Given the description of an element on the screen output the (x, y) to click on. 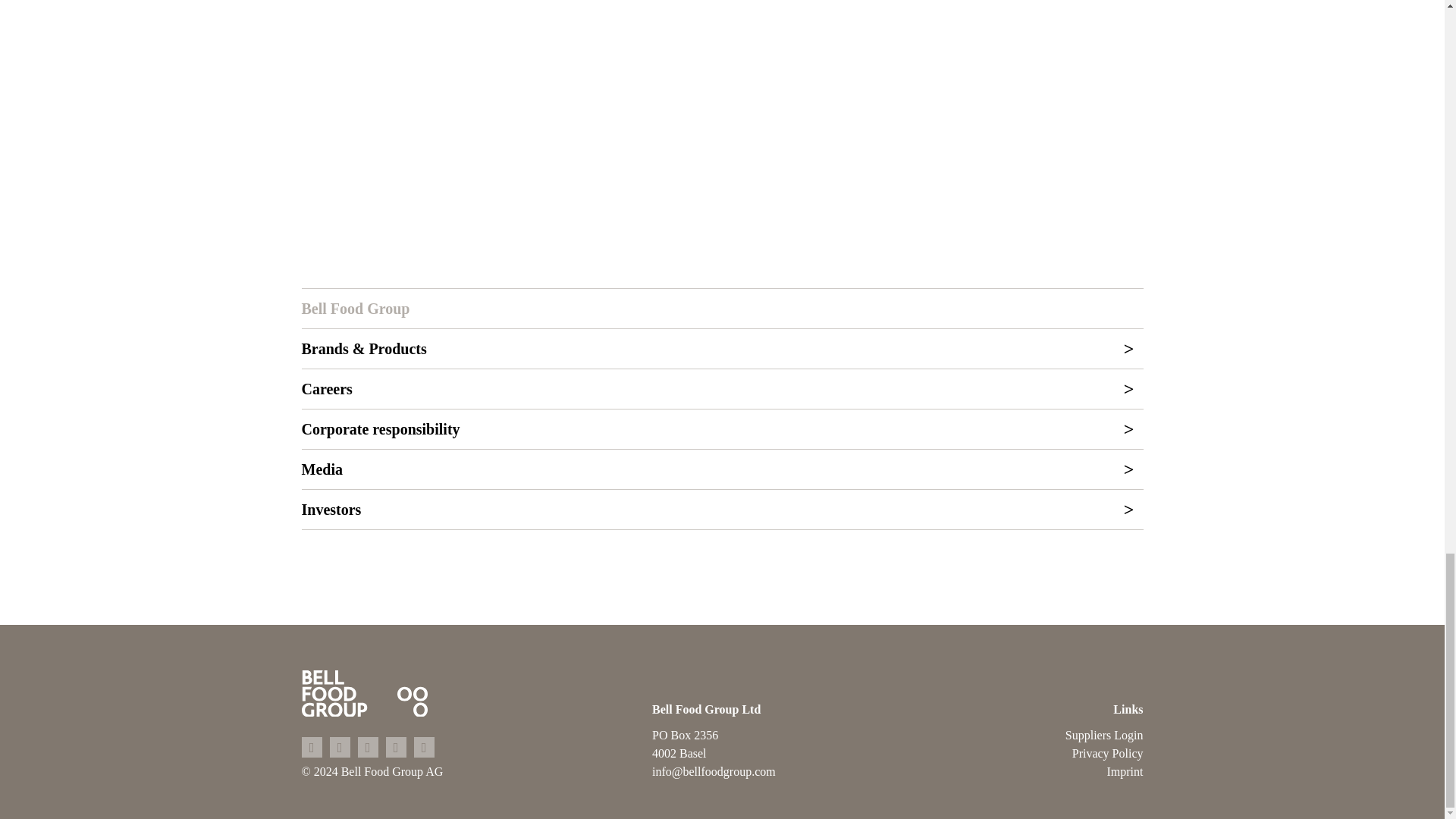
Suppliers Login (1072, 735)
Careers (721, 388)
Corporate responsibility (721, 428)
Bell Food Group (721, 308)
Privacy Policy (1072, 753)
Media (721, 468)
Investors (721, 509)
